Given the description of an element on the screen output the (x, y) to click on. 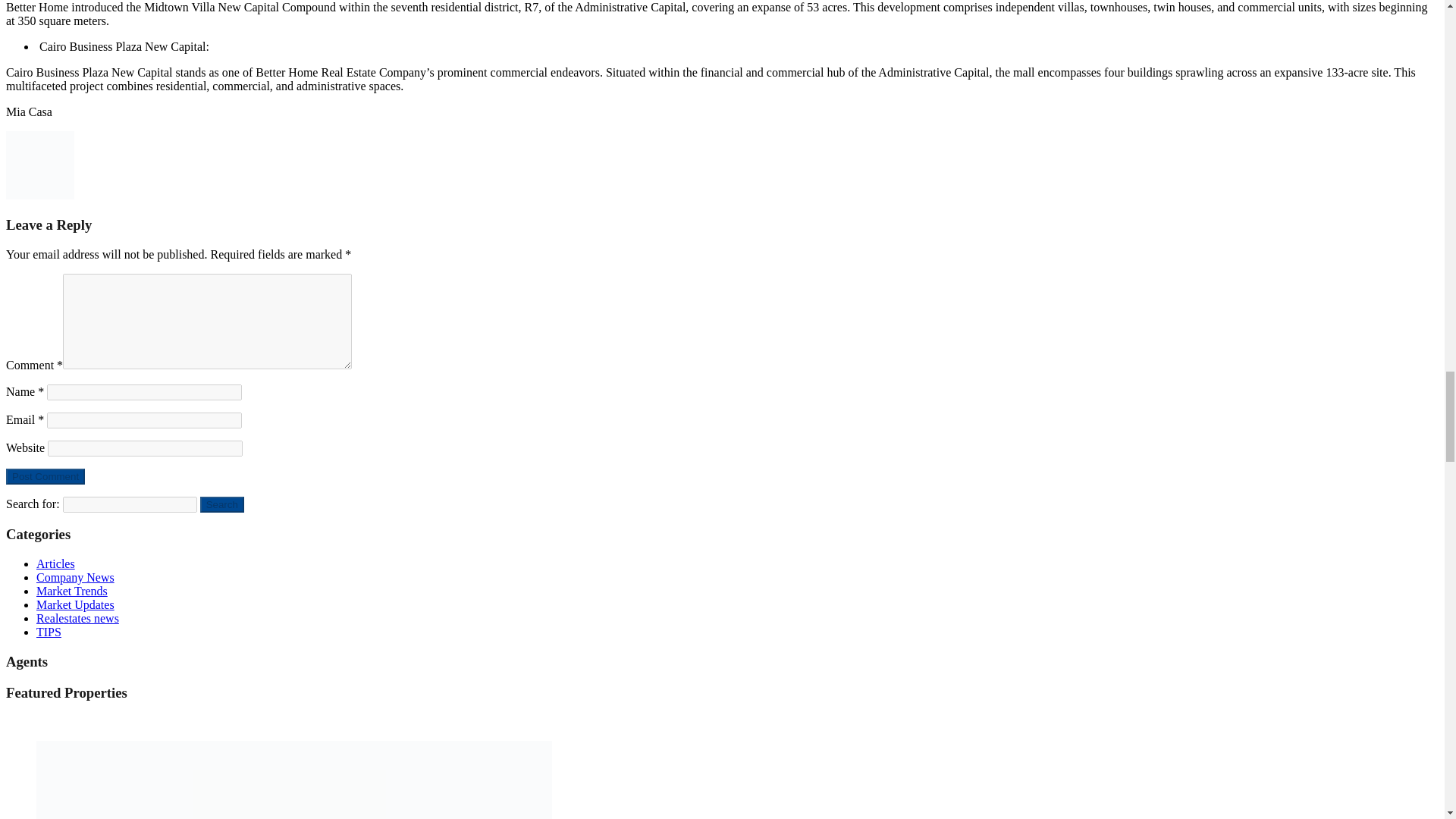
TIPS (48, 631)
Market Trends (71, 590)
Search (222, 504)
Market Updates (75, 604)
Articles (55, 563)
Realestates news (77, 617)
Post Comment (44, 476)
Company News (75, 576)
